Given the description of an element on the screen output the (x, y) to click on. 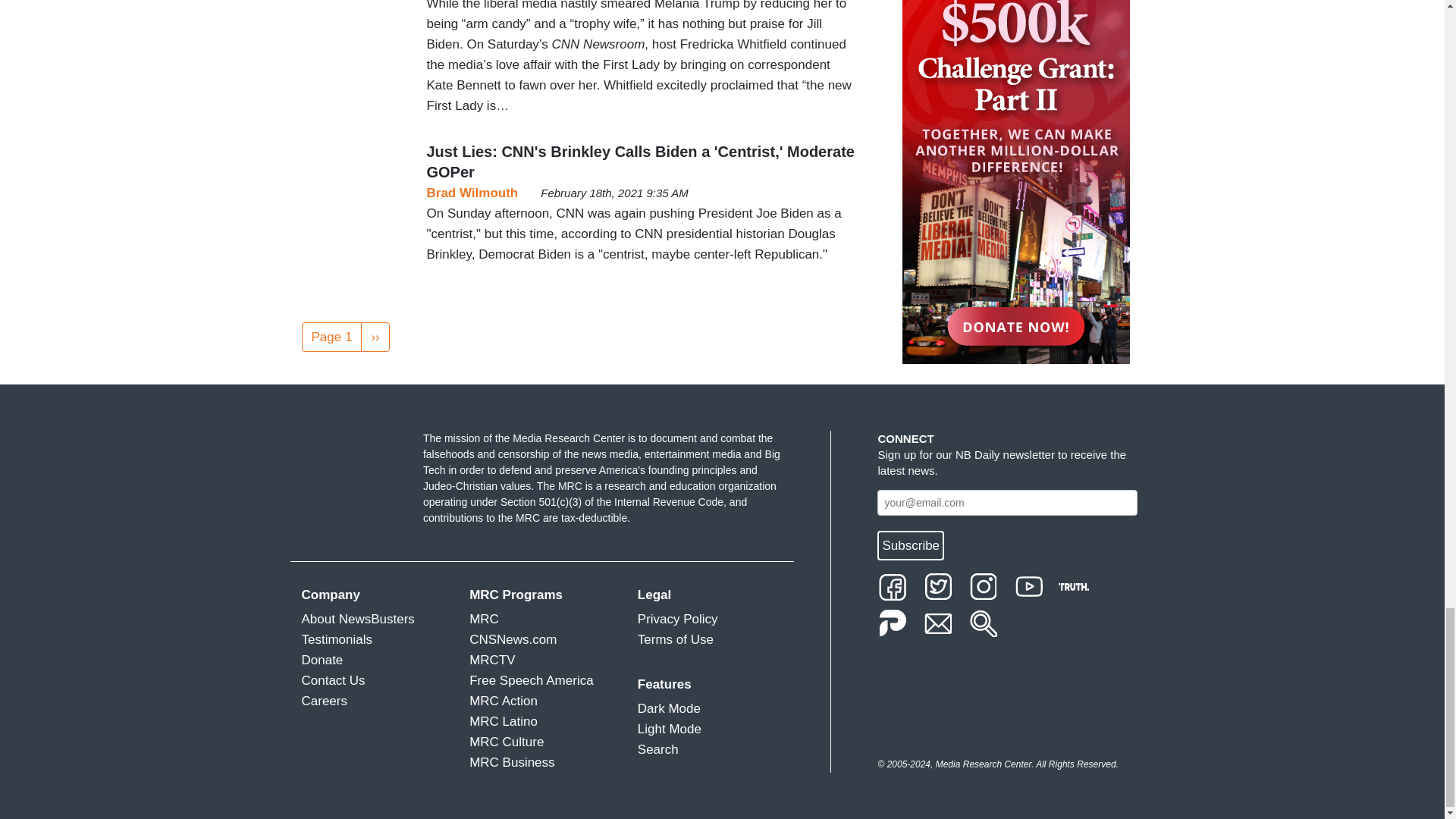
Go to next page (374, 337)
